Given the description of an element on the screen output the (x, y) to click on. 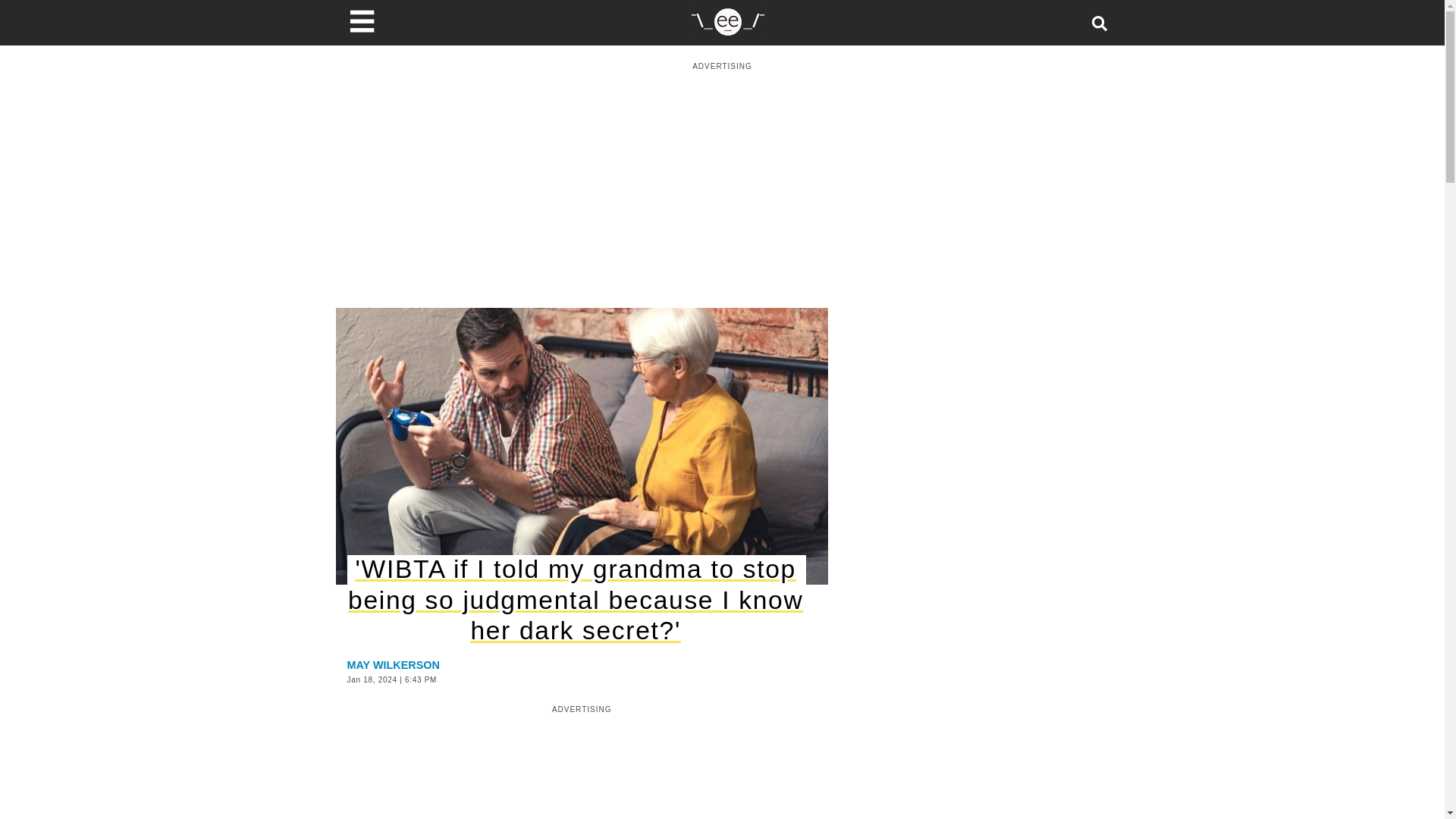
MAY WILKERSON (393, 664)
3rd party ad content (581, 770)
